Given the description of an element on the screen output the (x, y) to click on. 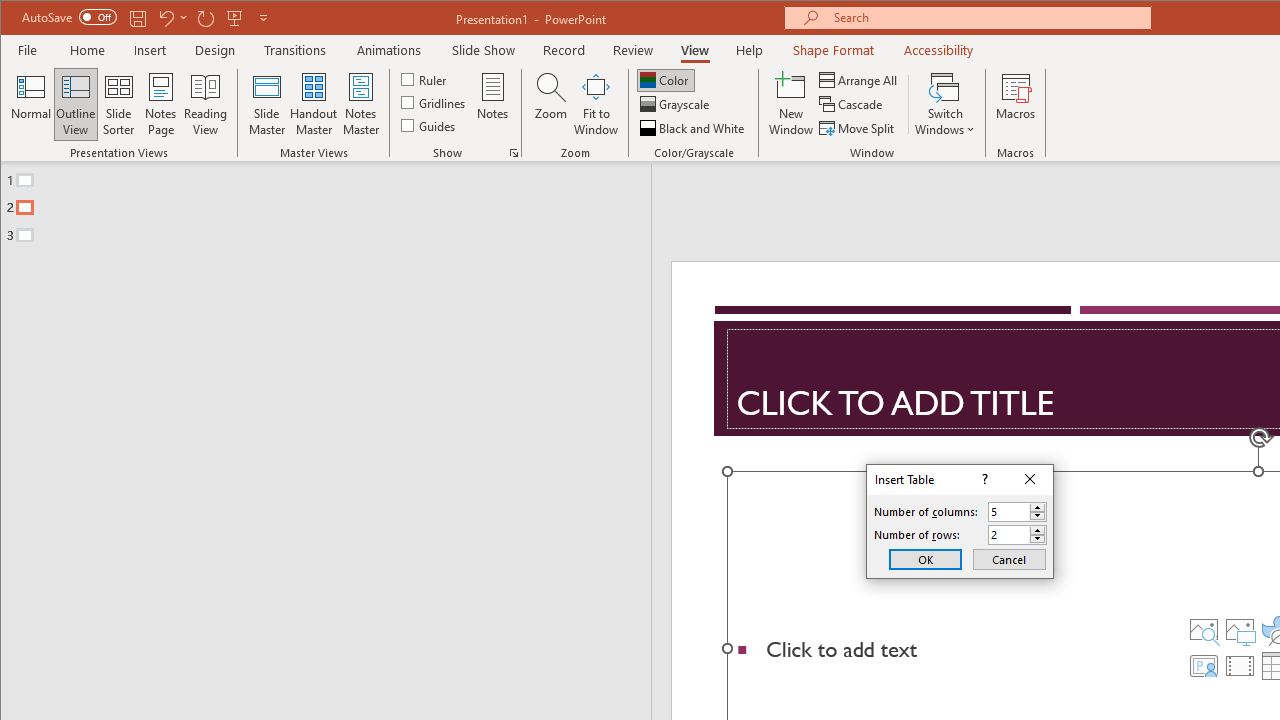
Black and White (694, 127)
Outline View (75, 104)
Number of rows (1017, 534)
Move Split (858, 127)
